Given the description of an element on the screen output the (x, y) to click on. 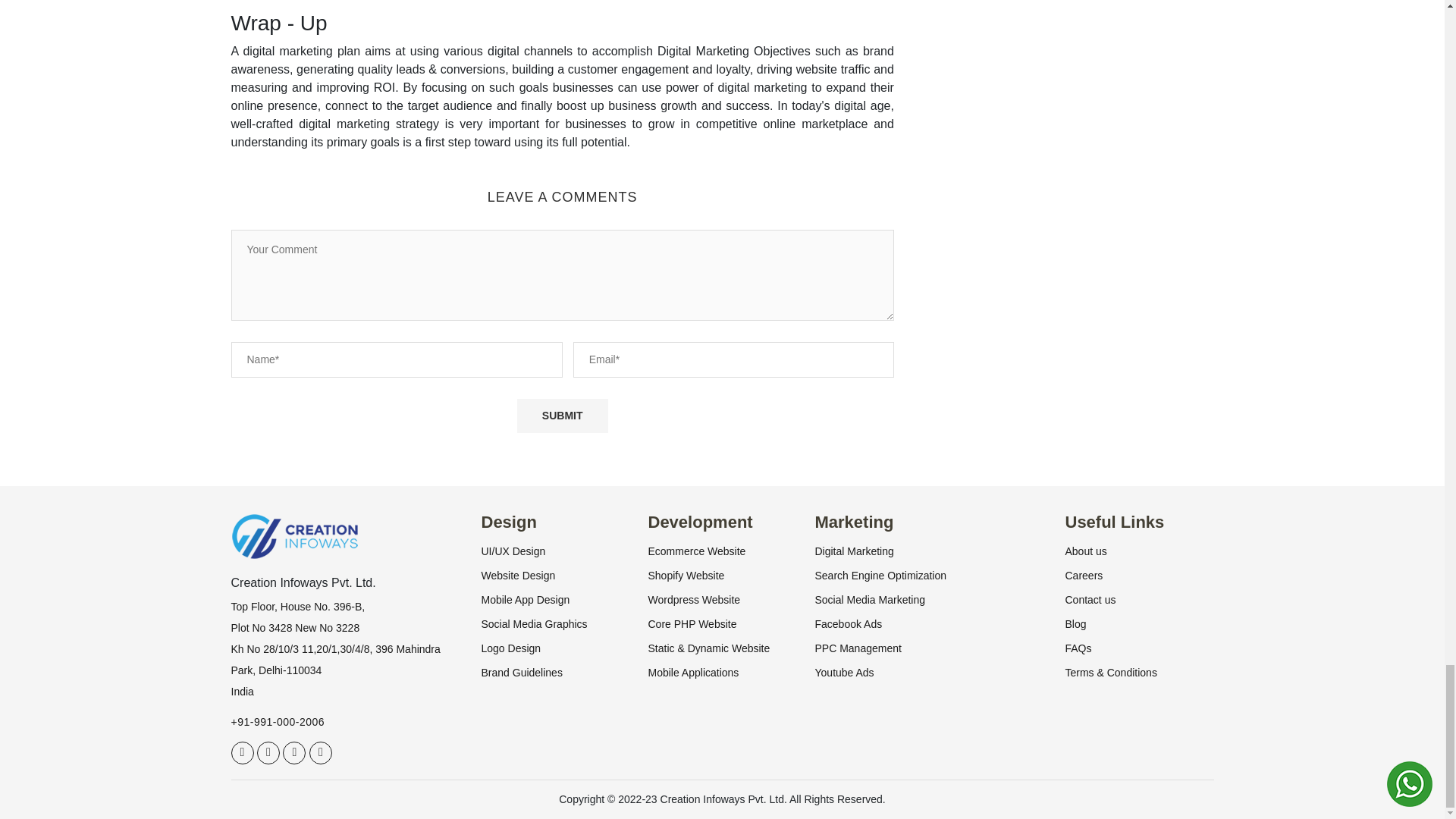
Submit (562, 415)
Submit (562, 415)
